Given the description of an element on the screen output the (x, y) to click on. 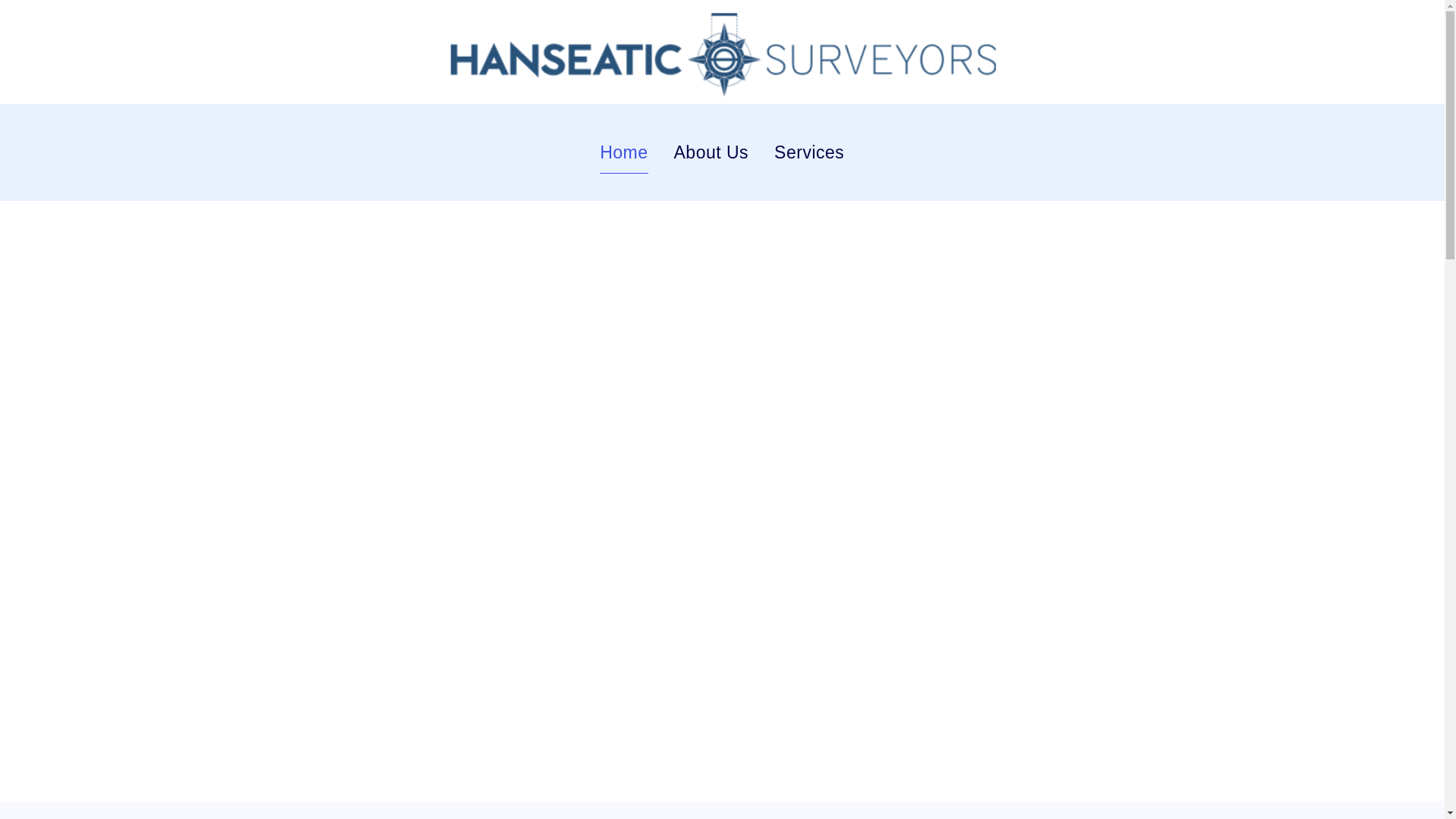
Services (809, 152)
About Us (710, 152)
Home (623, 152)
